Given the description of an element on the screen output the (x, y) to click on. 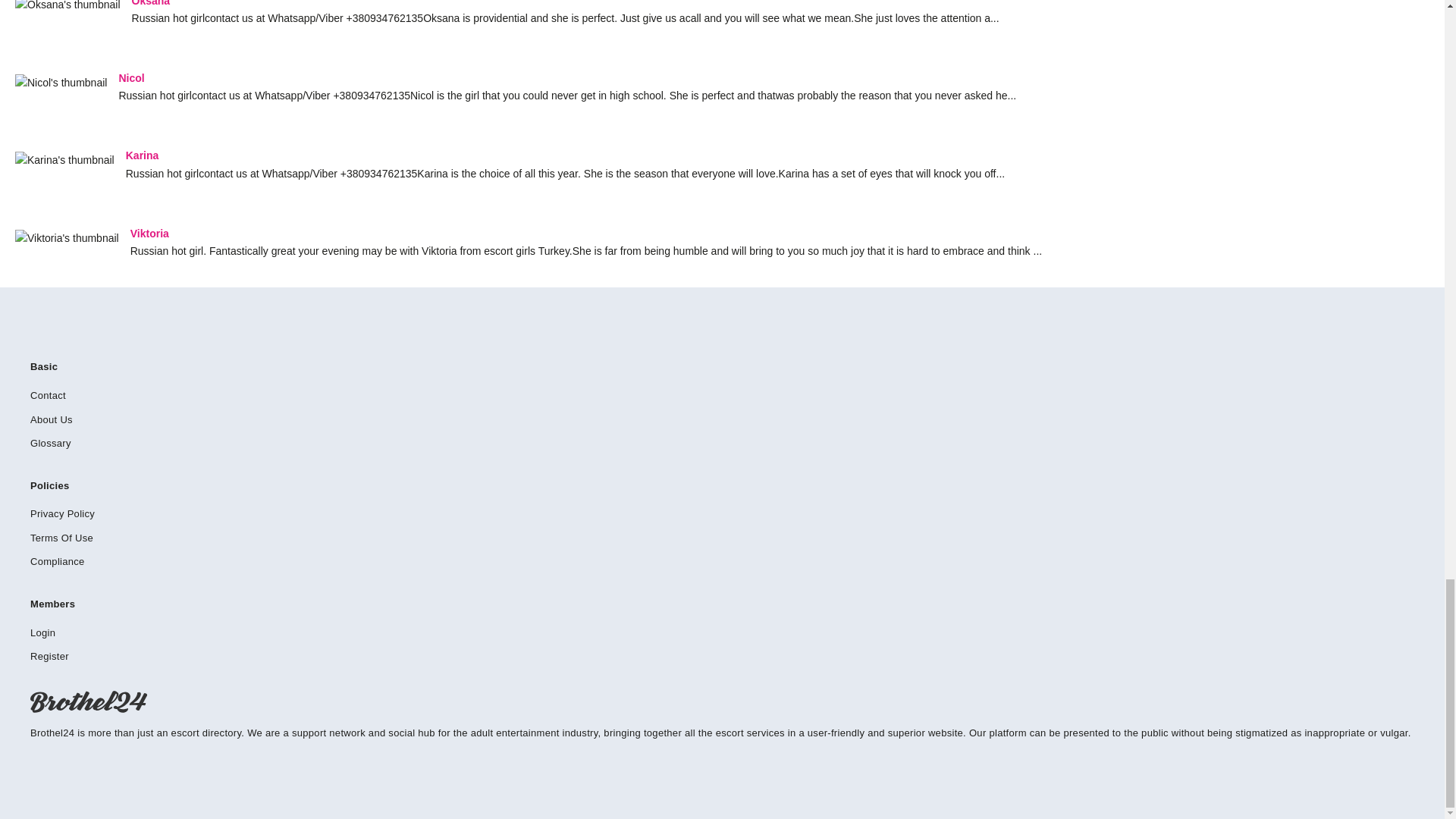
Oksana (151, 3)
About Us (51, 419)
Viktoria's profile (45, 233)
Compliance (57, 561)
Glossary (50, 442)
Nicol (39, 78)
Contact (47, 395)
Nicol's profile (39, 78)
Login (42, 632)
Oksana's profile (151, 3)
Terms Of Use (61, 537)
Karina's profile (42, 155)
Karina (42, 155)
Viktoria (45, 233)
Privacy Policy (62, 513)
